Given the description of an element on the screen output the (x, y) to click on. 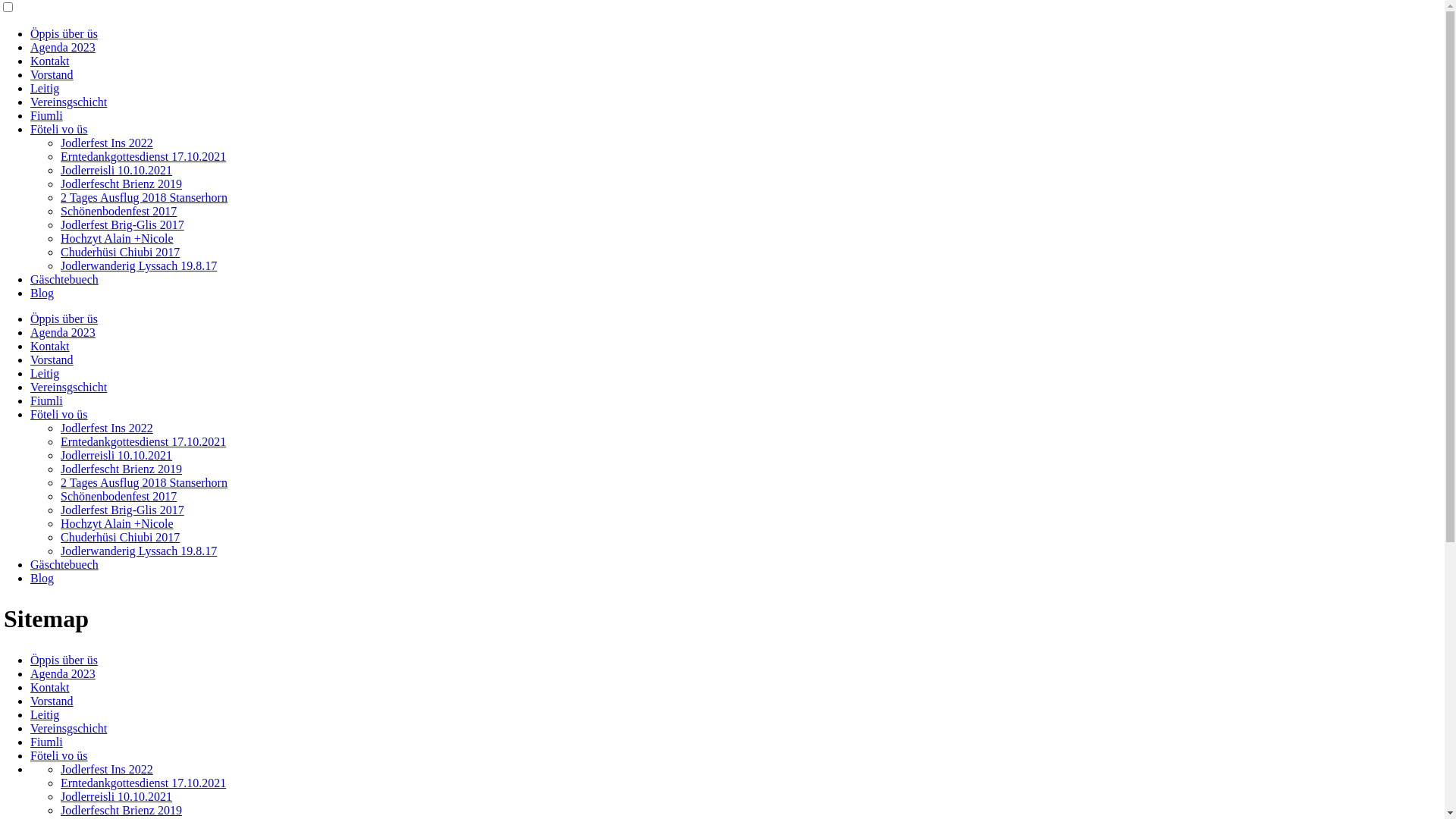
Kontakt Element type: text (49, 686)
Erntedankgottesdienst 17.10.2021 Element type: text (142, 782)
Vorstand Element type: text (51, 359)
Jodlerwanderig Lyssach 19.8.17 Element type: text (138, 550)
Jodlerfest Brig-Glis 2017 Element type: text (122, 224)
Jodlerfescht Brienz 2019 Element type: text (121, 468)
Leitig Element type: text (44, 714)
Fiumli Element type: text (46, 741)
2 Tages Ausflug 2018 Stanserhorn Element type: text (143, 197)
Fiumli Element type: text (46, 115)
Jodlerwanderig Lyssach 19.8.17 Element type: text (138, 265)
2 Tages Ausflug 2018 Stanserhorn Element type: text (143, 482)
Blog Element type: text (41, 577)
Fiumli Element type: text (46, 400)
Agenda 2023 Element type: text (62, 673)
Jodlerfescht Brienz 2019 Element type: text (121, 183)
Kontakt Element type: text (49, 60)
Vorstand Element type: text (51, 74)
Kontakt Element type: text (49, 345)
Vereinsgschicht Element type: text (68, 386)
Erntedankgottesdienst 17.10.2021 Element type: text (142, 156)
Jodlerfest Ins 2022 Element type: text (106, 142)
Vereinsgschicht Element type: text (68, 727)
Jodlerreisli 10.10.2021 Element type: text (116, 454)
Jodlerfest Ins 2022 Element type: text (106, 427)
Leitig Element type: text (44, 87)
Vorstand Element type: text (51, 700)
Vereinsgschicht Element type: text (68, 101)
Agenda 2023 Element type: text (62, 332)
Leitig Element type: text (44, 373)
Jodlerfest Brig-Glis 2017 Element type: text (122, 509)
Blog Element type: text (41, 292)
Jodlerreisli 10.10.2021 Element type: text (116, 796)
Erntedankgottesdienst 17.10.2021 Element type: text (142, 441)
Hochzyt Alain +Nicole Element type: text (116, 523)
Agenda 2023 Element type: text (62, 46)
Hochzyt Alain +Nicole Element type: text (116, 238)
Jodlerreisli 10.10.2021 Element type: text (116, 169)
Jodlerfest Ins 2022 Element type: text (106, 768)
Jodlerfescht Brienz 2019 Element type: text (121, 809)
